Given the description of an element on the screen output the (x, y) to click on. 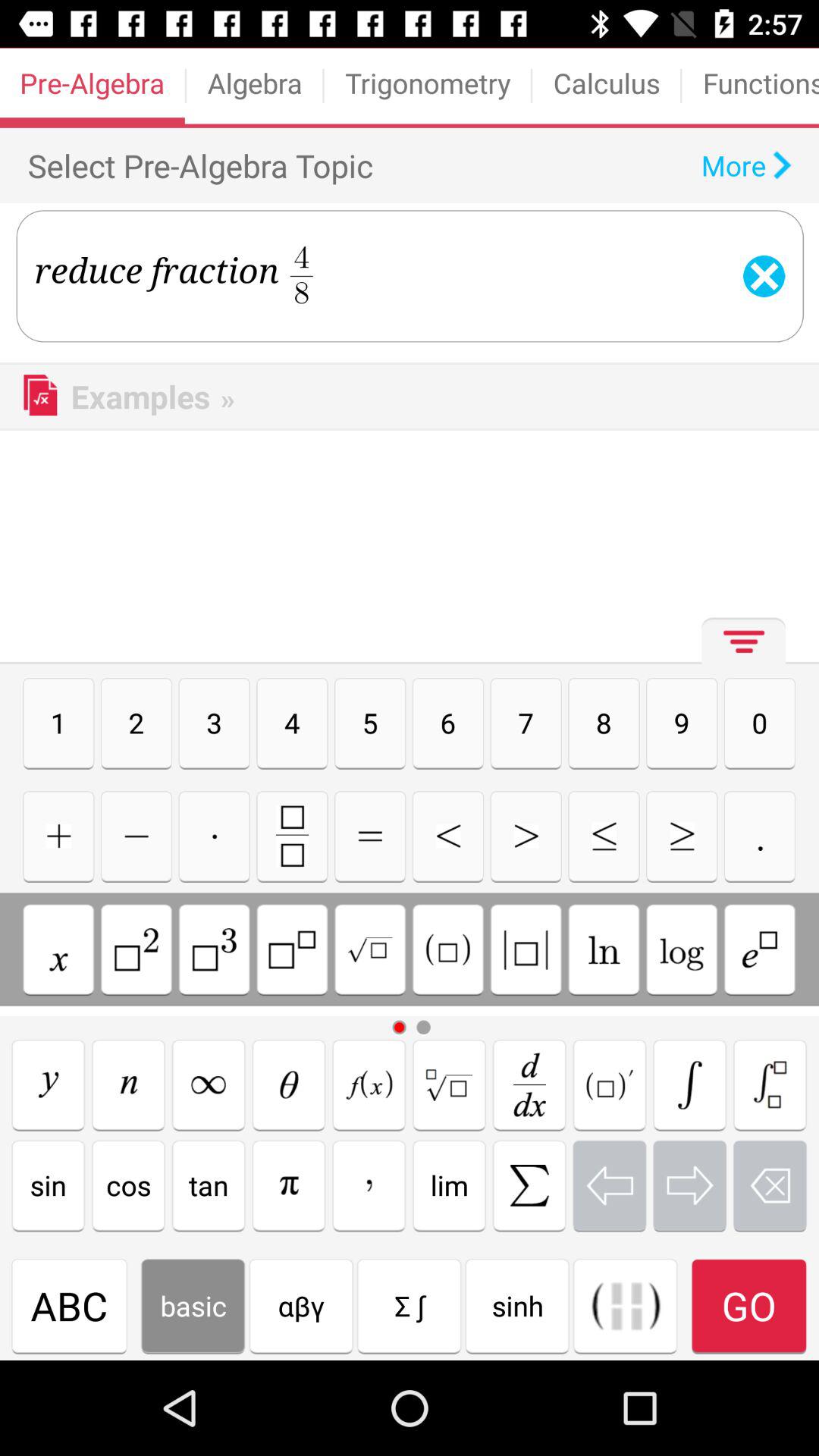
search formula (529, 1084)
